Given the description of an element on the screen output the (x, y) to click on. 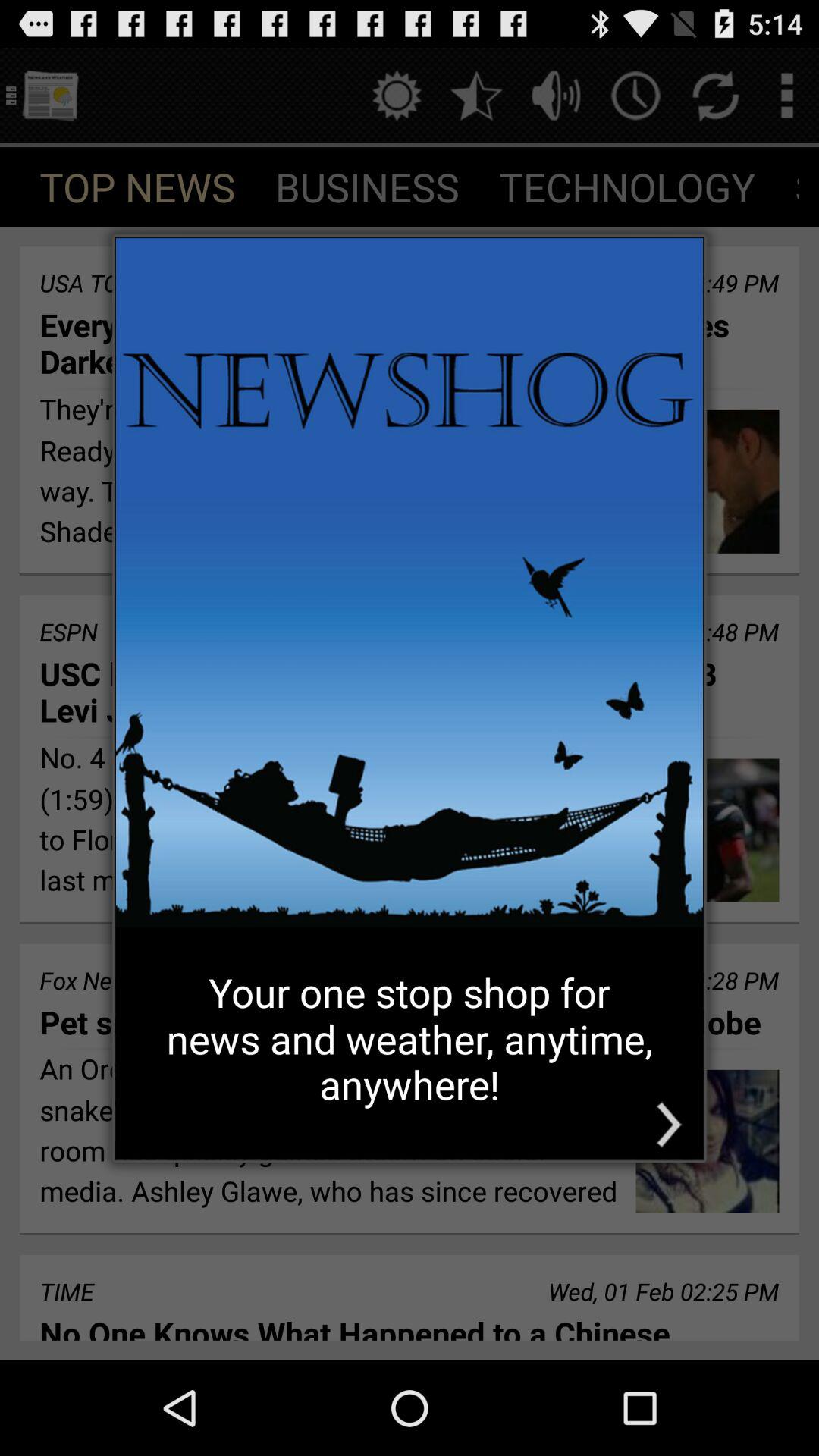
next page (668, 1124)
